Given the description of an element on the screen output the (x, y) to click on. 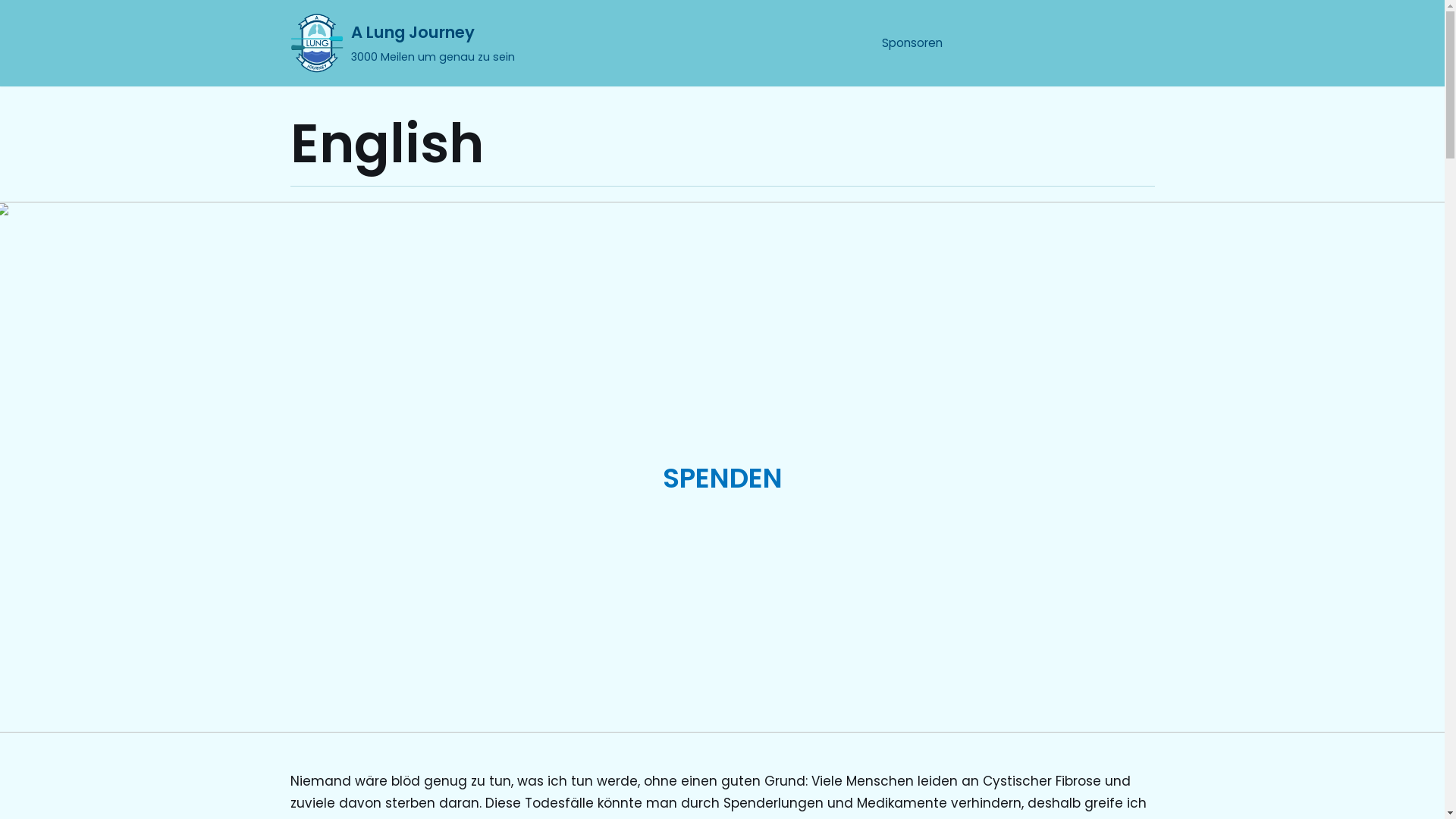
Sponsoren Element type: text (911, 43)
Zum Inhalt Element type: text (15, 7)
A Lung Journey
3000 Meilen um genau zu sein Element type: text (401, 42)
SPENDEN Element type: text (721, 477)
